Given the description of an element on the screen output the (x, y) to click on. 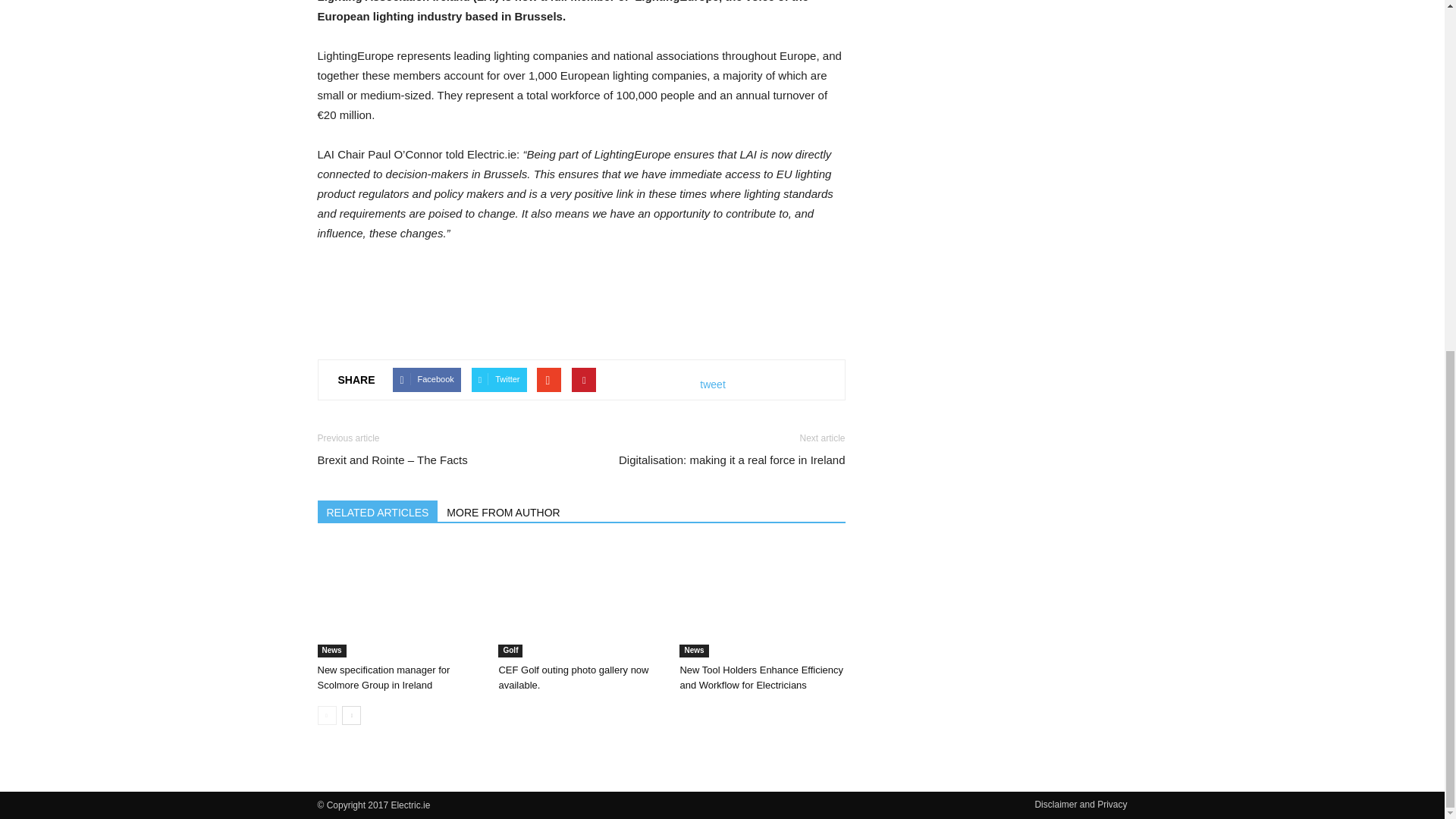
CEF Golf outing photo gallery now available. (580, 600)
New specification manager for Scolmore Group in Ireland (383, 677)
New specification manager for Scolmore Group in Ireland (399, 600)
